Given the description of an element on the screen output the (x, y) to click on. 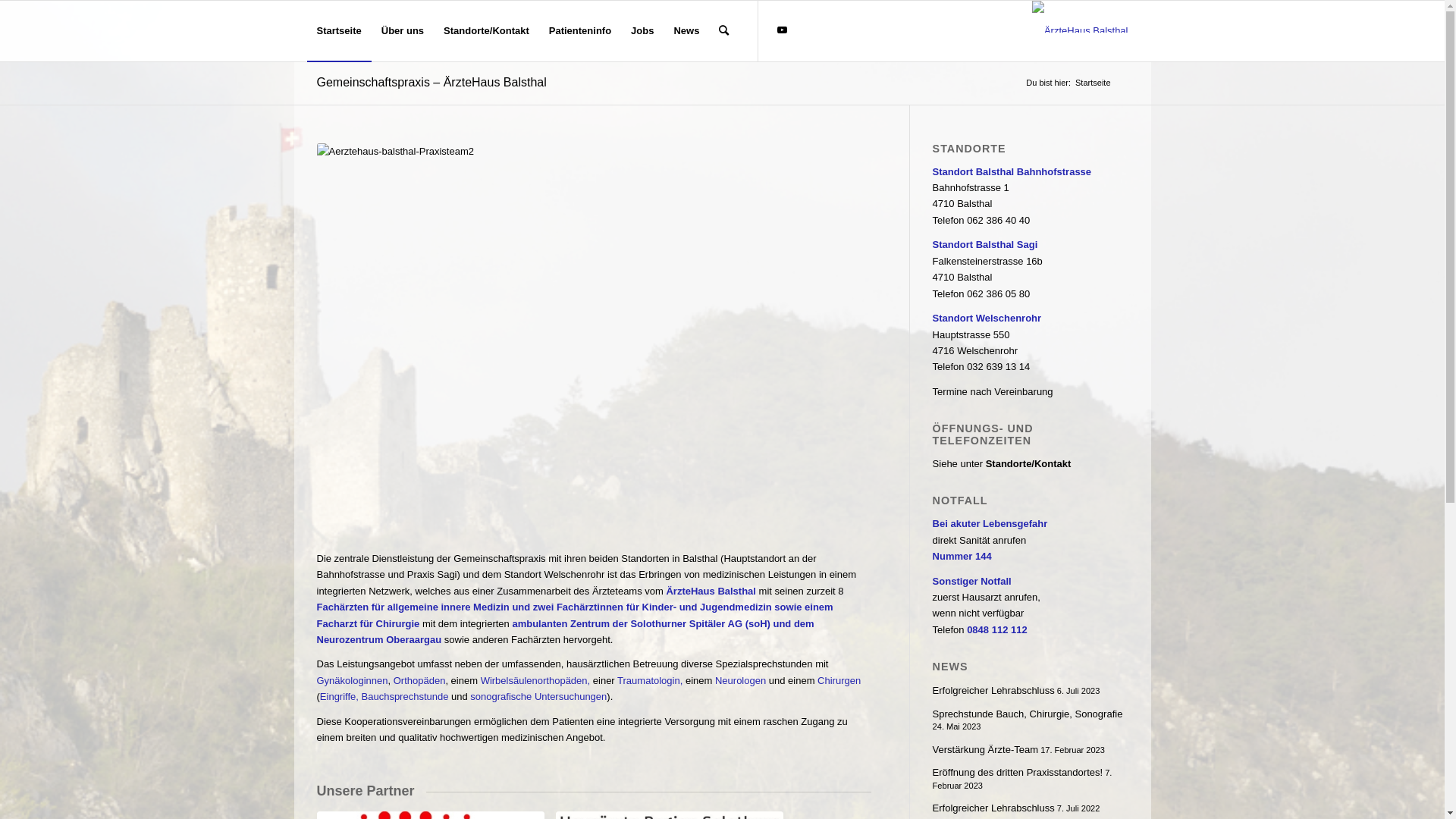
Chirurgen Element type: text (838, 680)
Erfolgreicher Lehrabschluss Element type: text (993, 690)
062 386 05 80 Element type: text (997, 293)
Neurologen Element type: text (740, 680)
Traumatologin, Element type: text (649, 680)
032 639 13 14 Element type: text (997, 366)
Aerztehaus-balsthal-Praxisteam2 Element type: hover (593, 328)
Patienteninfo Element type: text (580, 30)
Standorte/Kontakt Element type: text (1028, 463)
Youtube Element type: hover (781, 29)
Jobs Element type: text (642, 30)
Startseite Element type: text (338, 30)
Sprechstunde Bauch, Chirurgie, Sonografie Element type: text (1027, 713)
Standorte/Kontakt Element type: text (486, 30)
Eingriffe, Bauchsprechstunde Element type: text (384, 696)
062 386 40 40 Element type: text (997, 219)
News Element type: text (686, 30)
Erfolgreicher Lehrabschluss Element type: text (993, 807)
sonografische Untersuchungen Element type: text (538, 696)
